Given the description of an element on the screen output the (x, y) to click on. 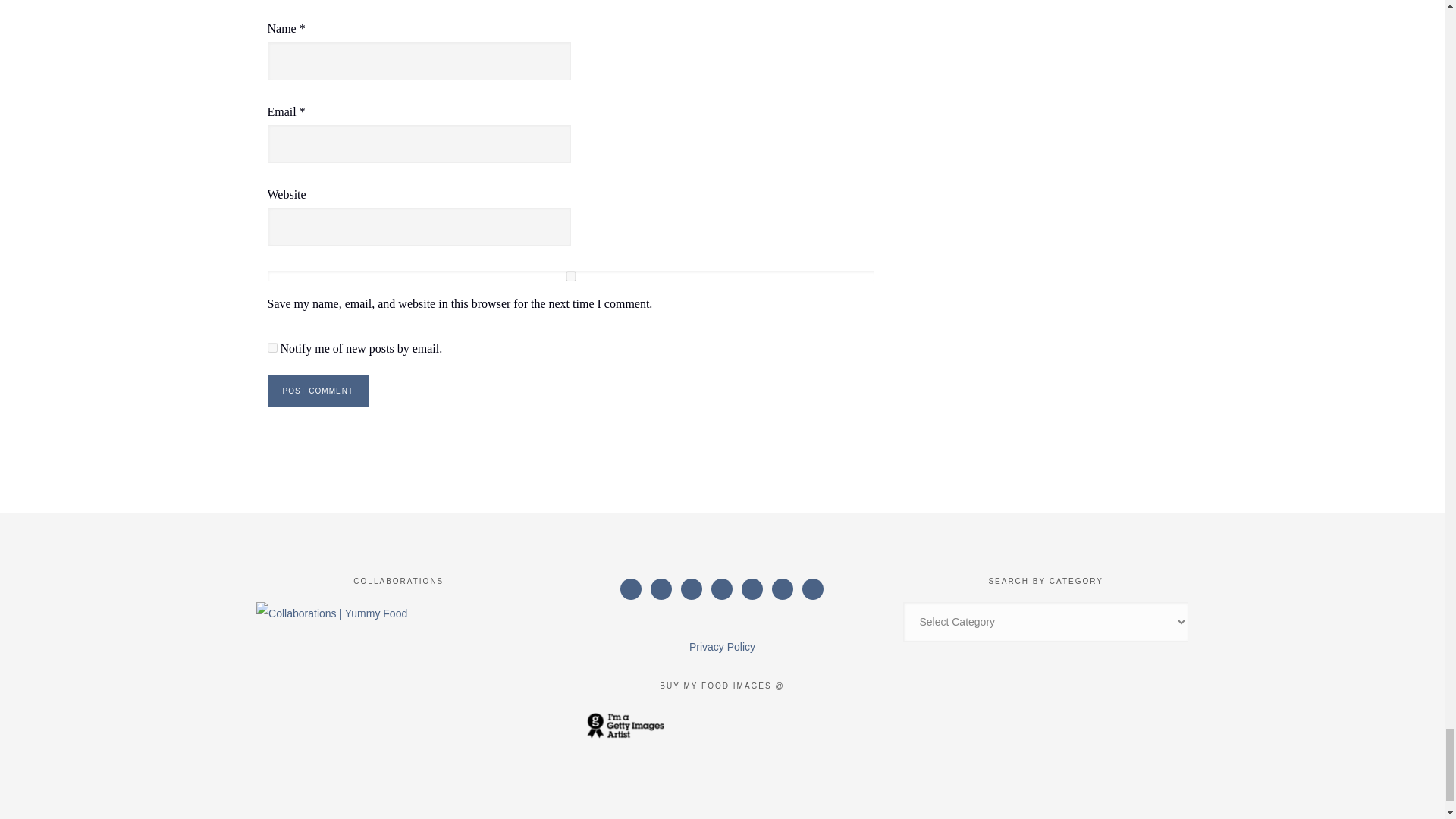
Post Comment (317, 390)
subscribe (271, 347)
yes (569, 276)
